Given the description of an element on the screen output the (x, y) to click on. 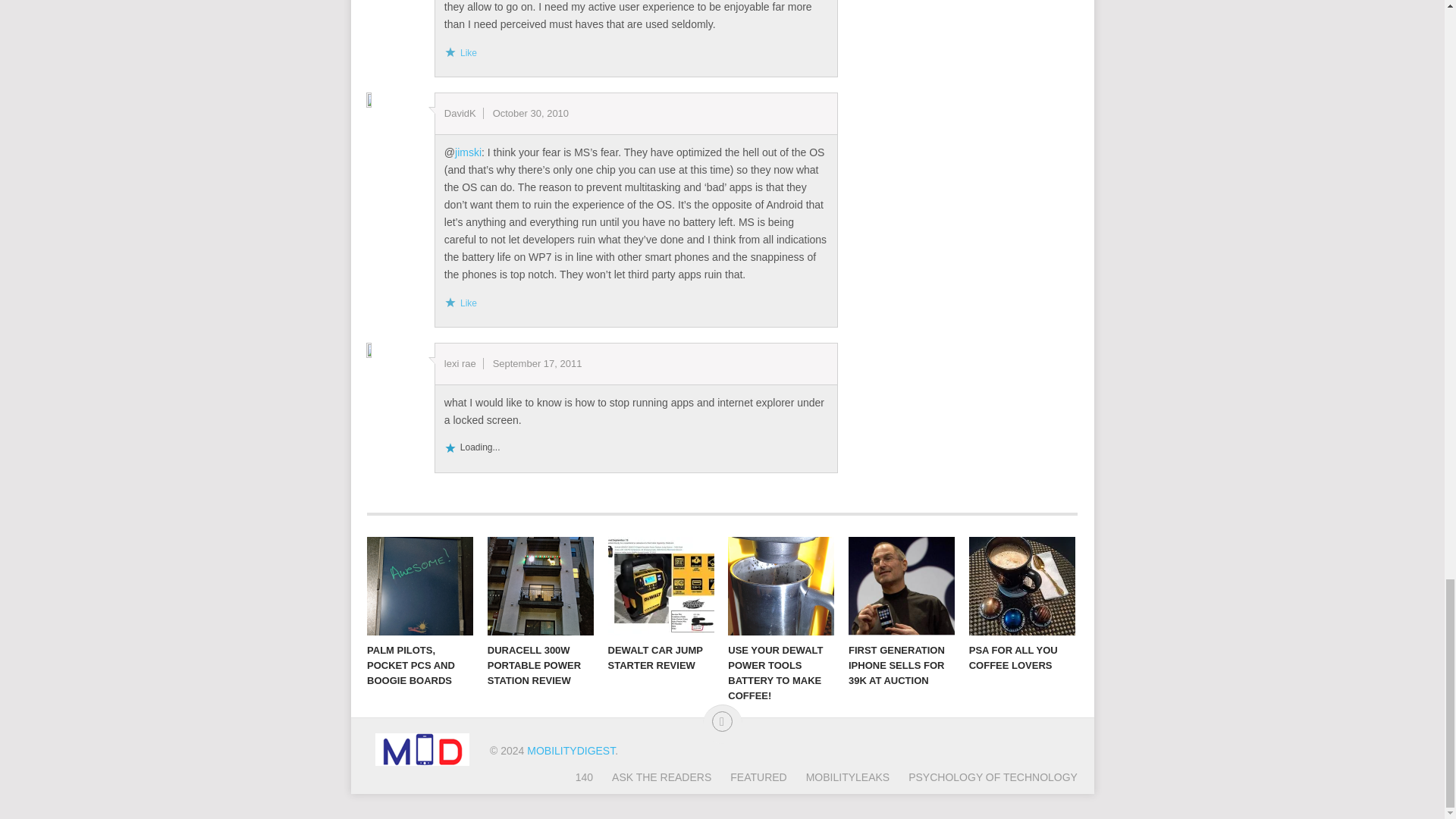
jimski (467, 152)
